Given the description of an element on the screen output the (x, y) to click on. 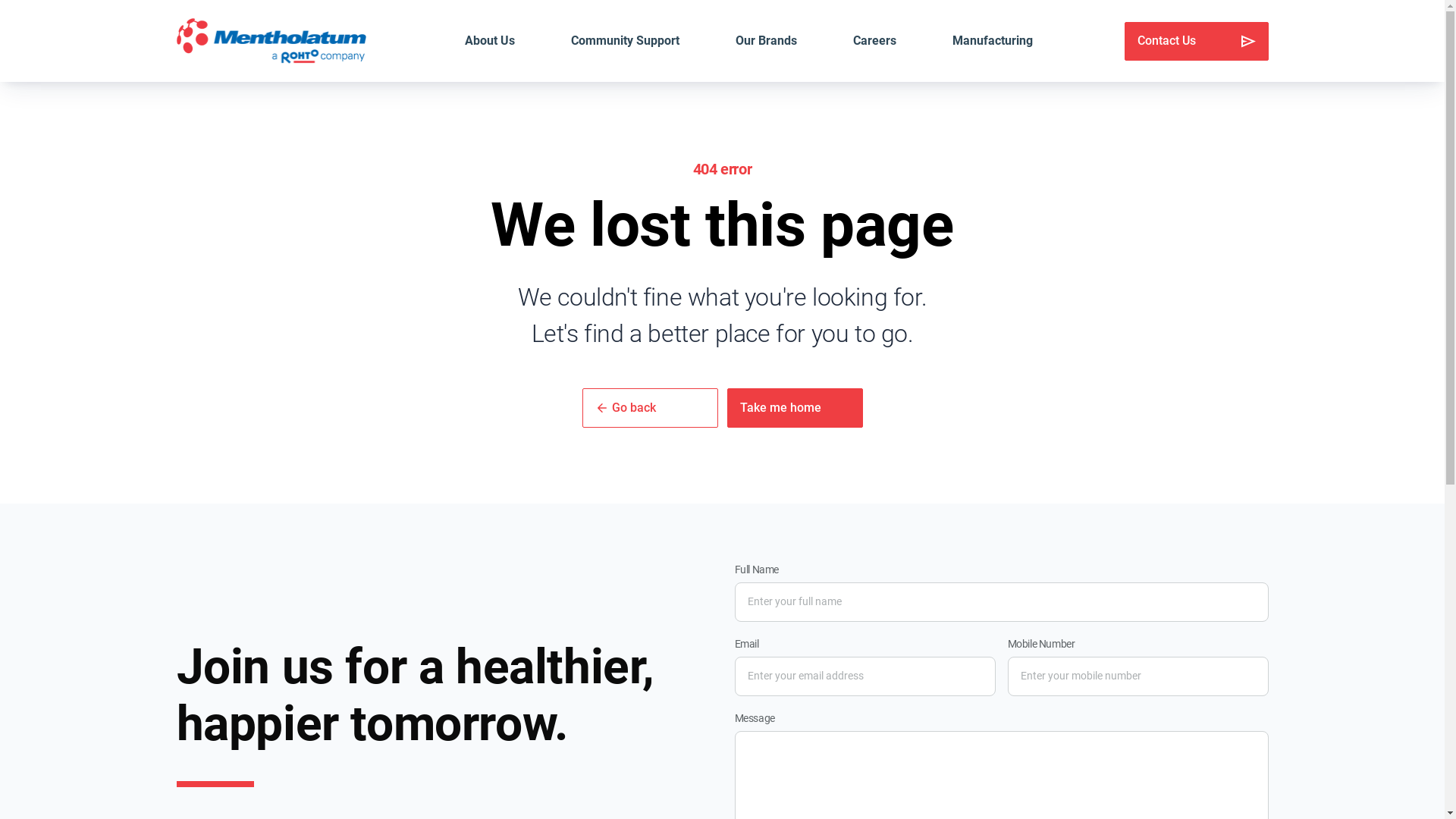
Our Brands Element type: text (766, 40)
Take me home Element type: text (794, 407)
Contact Us Element type: text (1195, 40)
Go back Element type: text (650, 407)
About Us Element type: text (489, 40)
Manufacturing Element type: text (992, 40)
Mentholatum Element type: text (270, 40)
Community Support Element type: text (624, 40)
Careers Element type: text (874, 40)
